Given the description of an element on the screen output the (x, y) to click on. 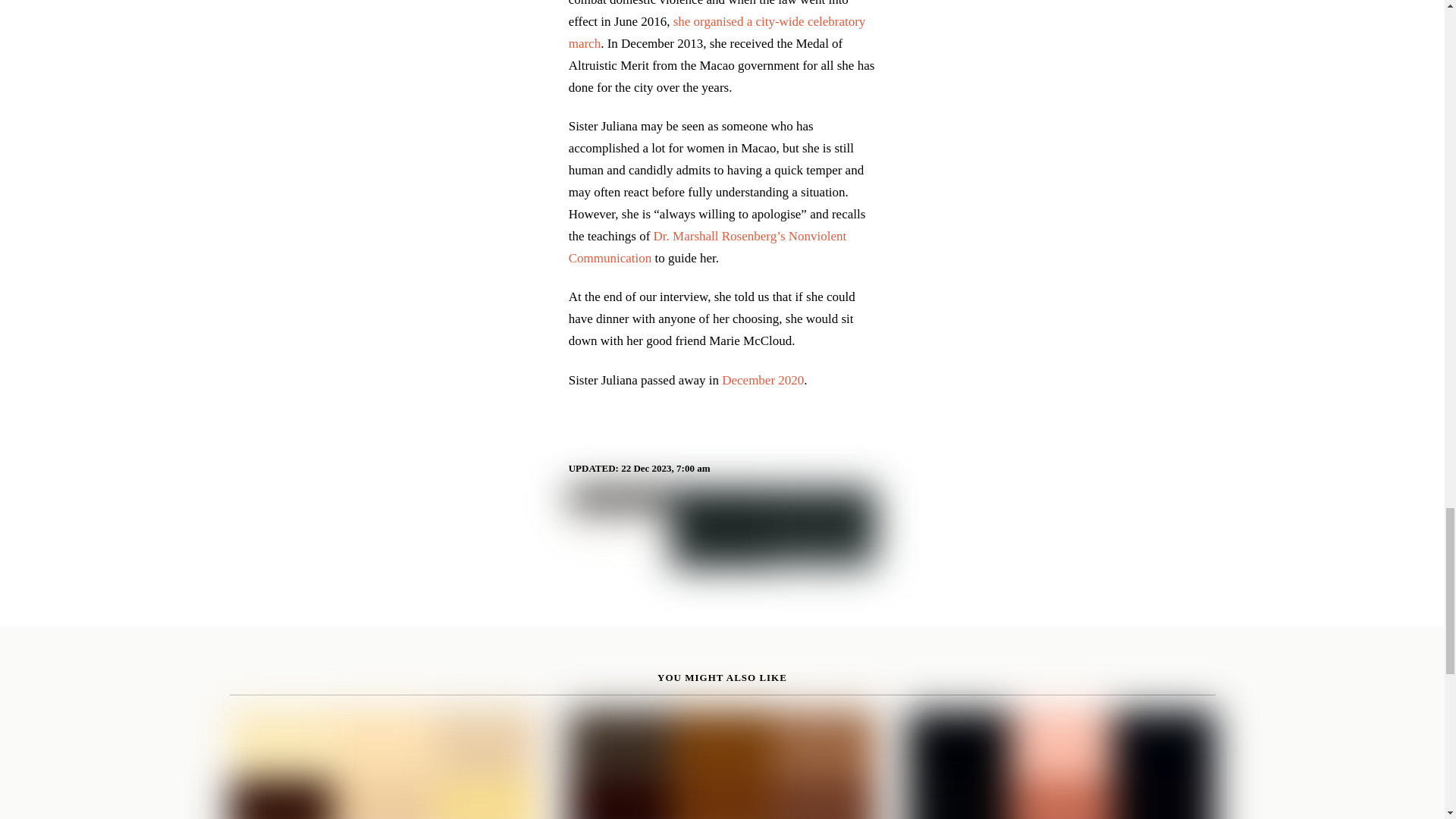
the tea Banner desktop (722, 528)
